Given the description of an element on the screen output the (x, y) to click on. 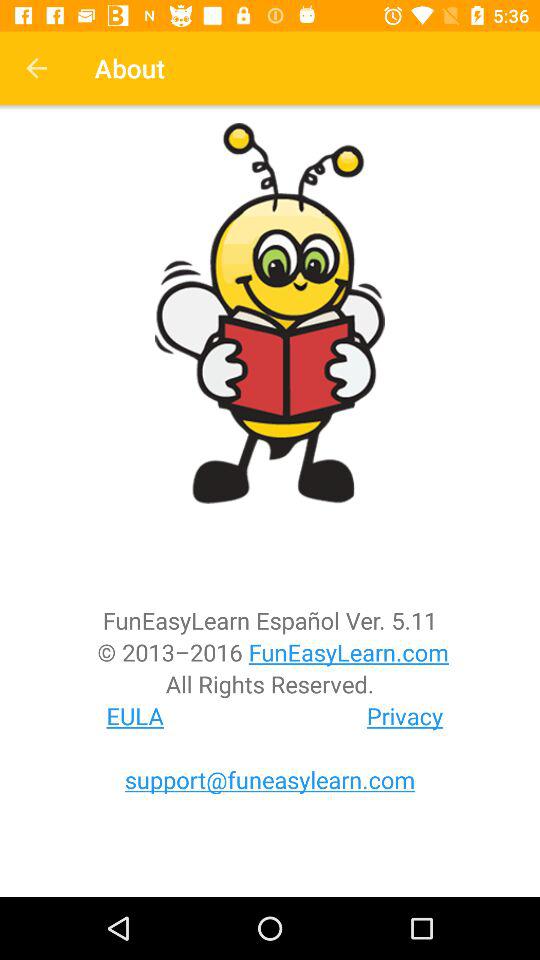
swipe to eula item (135, 715)
